Given the description of an element on the screen output the (x, y) to click on. 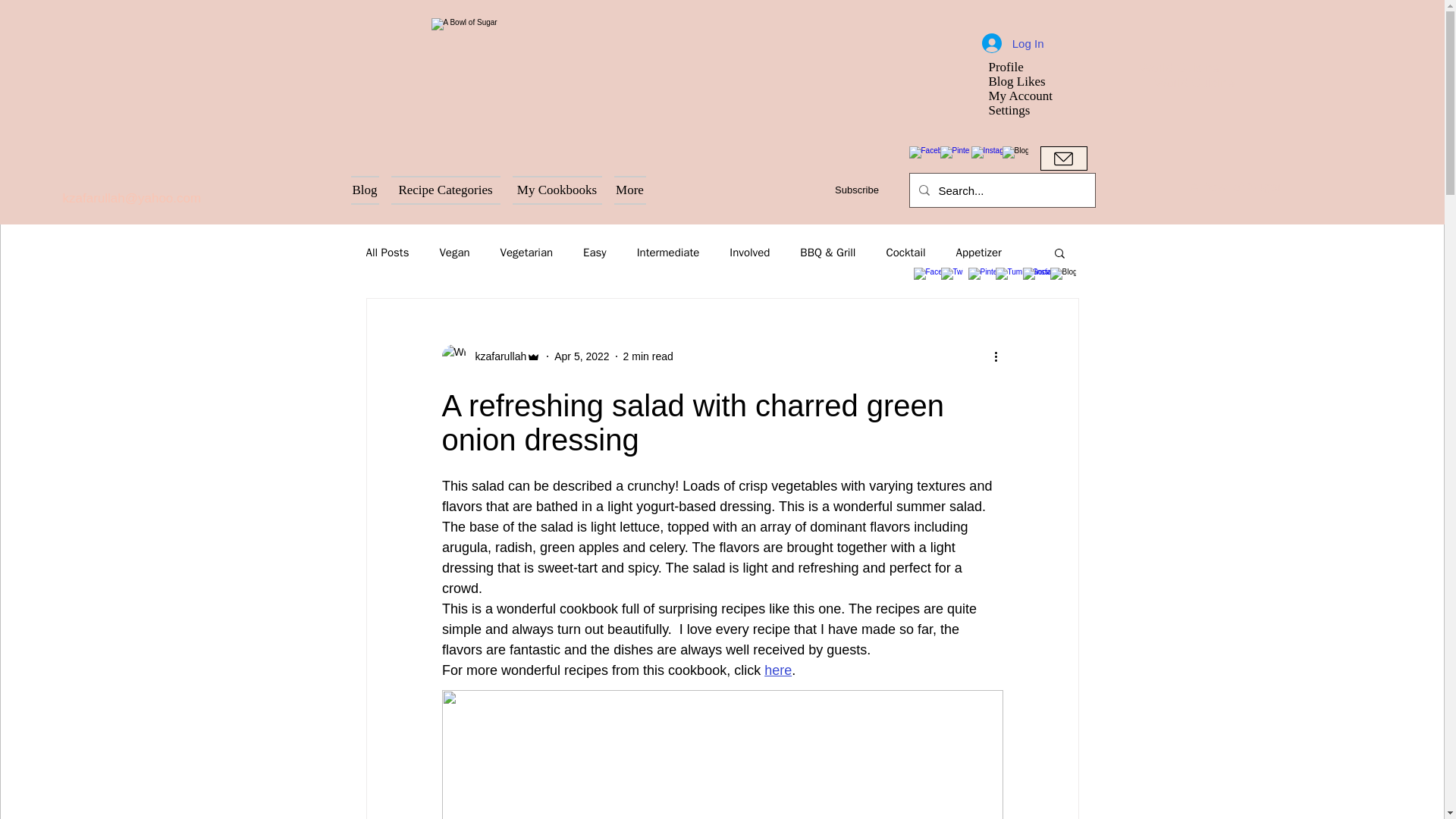
Appetizer (978, 252)
Subscribe (856, 190)
Recipe Categories (445, 190)
Profile (1026, 66)
Cocktail (904, 252)
Vegetarian (526, 252)
Log In (1012, 42)
All Posts (387, 252)
Vegan (453, 252)
Blog Likes (1026, 81)
